Given the description of an element on the screen output the (x, y) to click on. 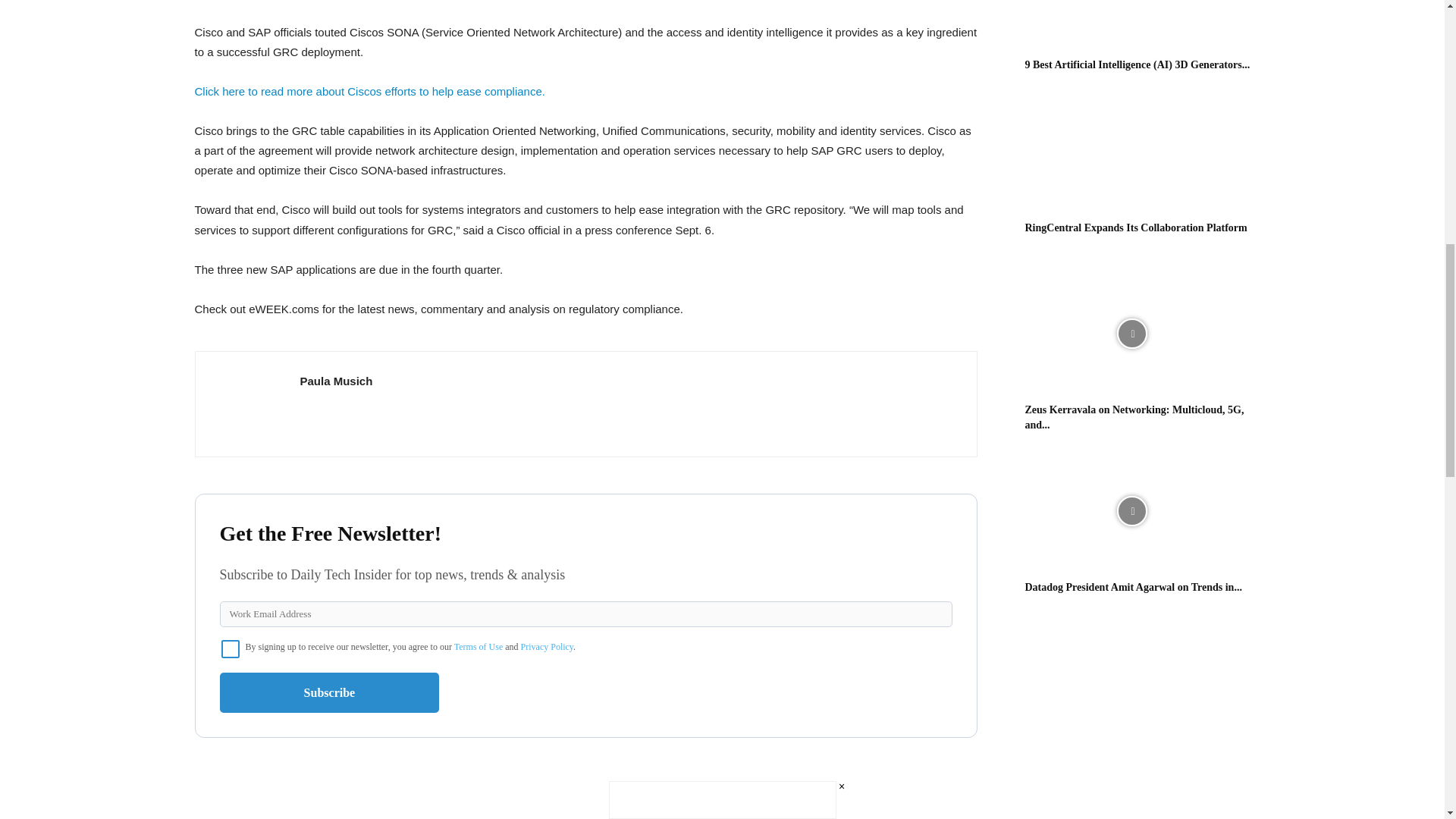
RingCentral Expands Its Collaboration Platform (1136, 227)
Zeus Kerravala on Networking: Multicloud, 5G, and Automation (1134, 417)
Zeus Kerravala on Networking: Multicloud, 5G, and Automation (1131, 333)
on (230, 648)
RingCentral Expands Its Collaboration Platform (1131, 151)
